Given the description of an element on the screen output the (x, y) to click on. 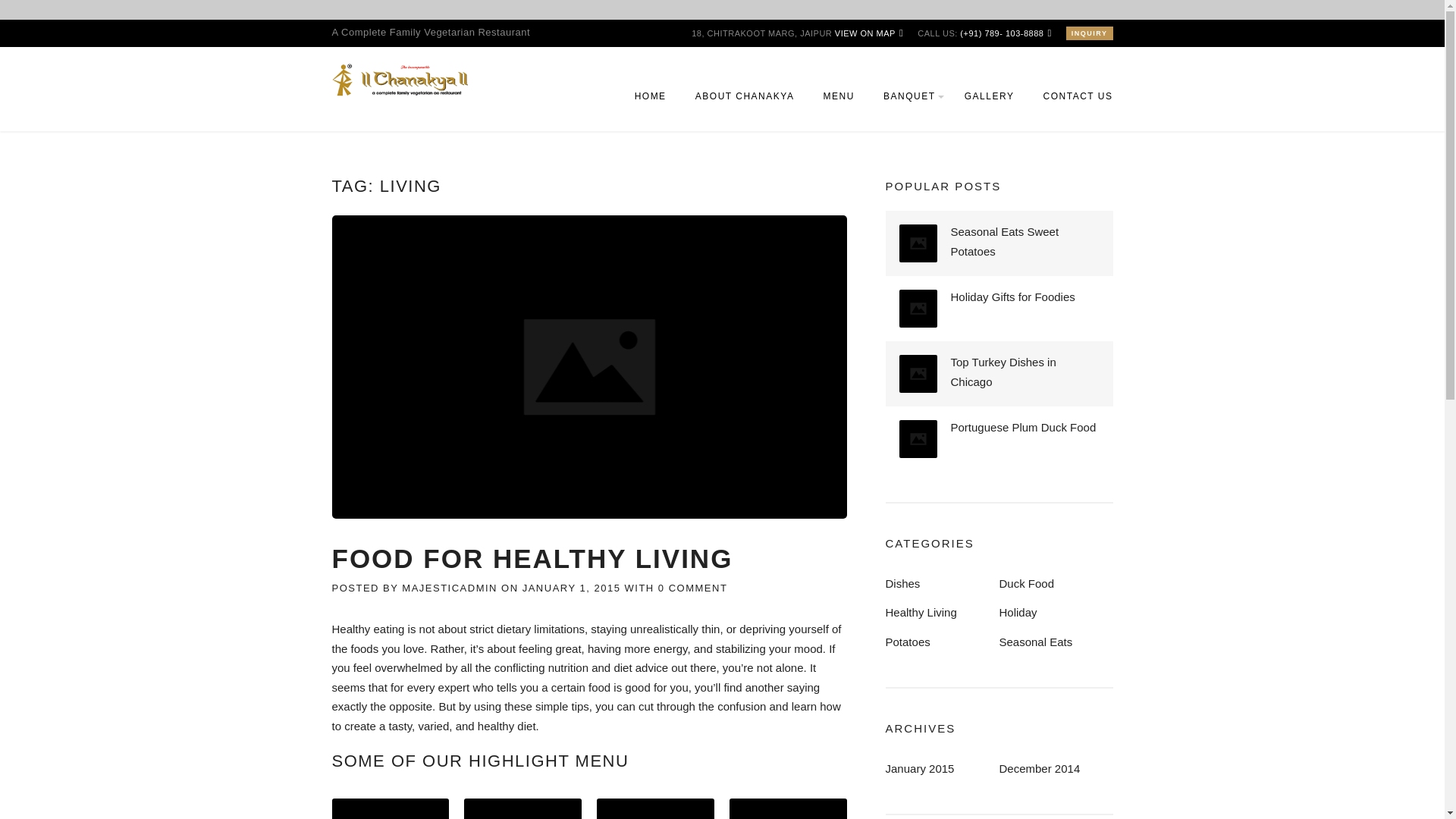
HOME (650, 104)
ABOUT CHANAKYA (745, 104)
Holiday Gifts for Foodies (1012, 296)
December 2014 (1039, 768)
Skip to content (37, 29)
JANUARY 1, 2015 (571, 587)
January 2015 (920, 768)
Chanakya Restaurant (399, 78)
Search (40, 18)
Holiday (1017, 612)
CONTACT US (1071, 104)
Top Turkey Dishes in Chicago (1003, 371)
Holiday Gifts for Foodies (1012, 296)
MAJESTICADMIN (449, 587)
Seasonal Eats Sweet Potatoes (1004, 241)
